Given the description of an element on the screen output the (x, y) to click on. 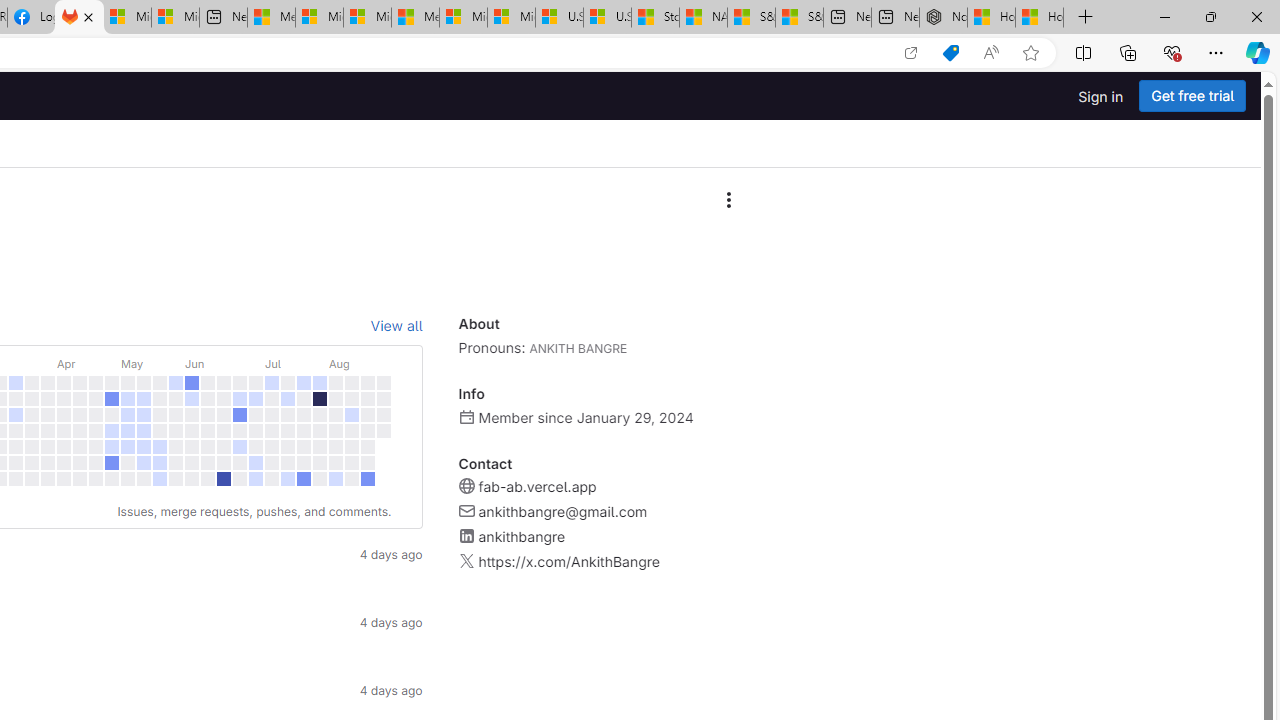
Collections (1128, 52)
